Given the description of an element on the screen output the (x, y) to click on. 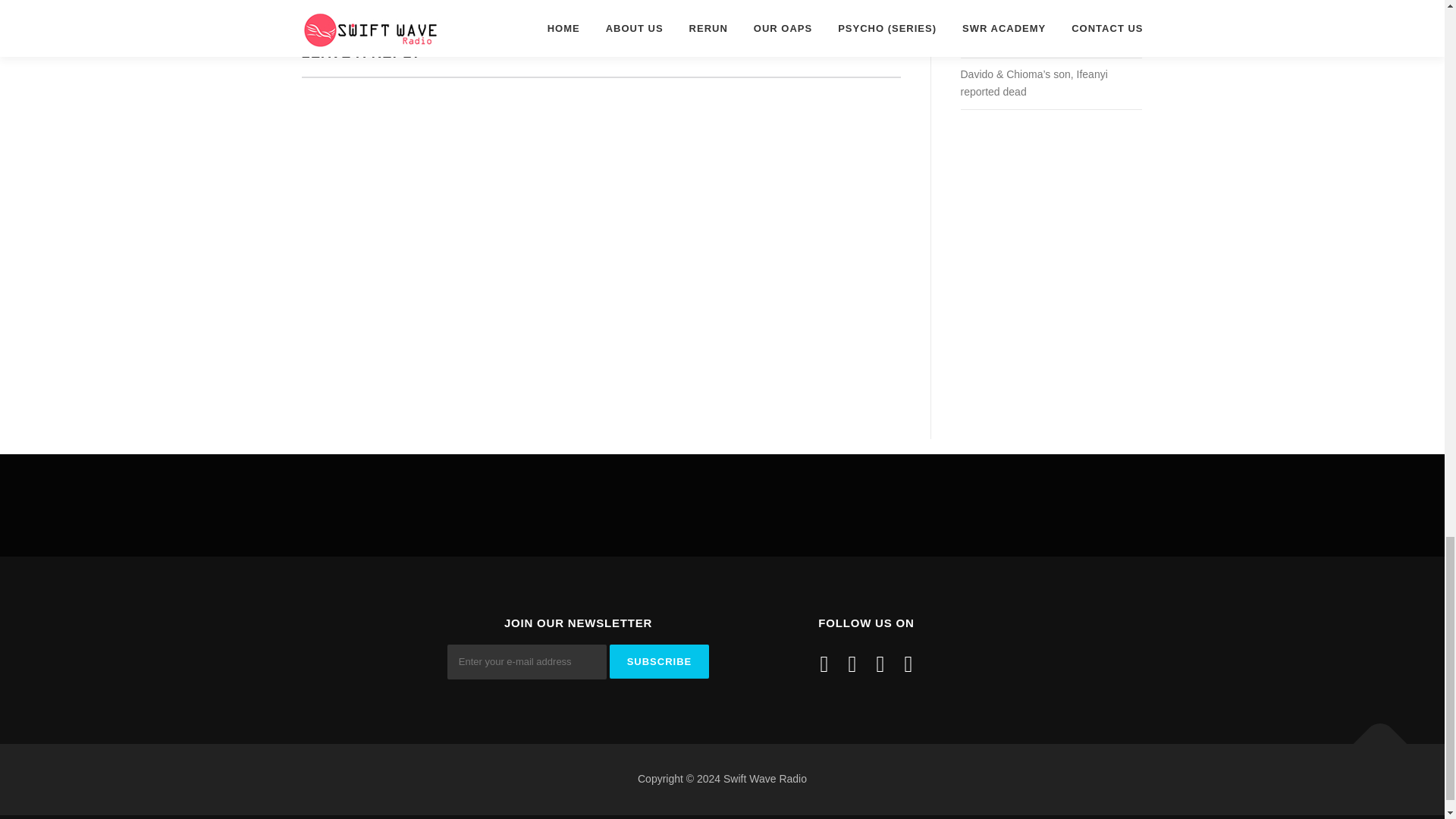
Subscribe (660, 661)
